Given the description of an element on the screen output the (x, y) to click on. 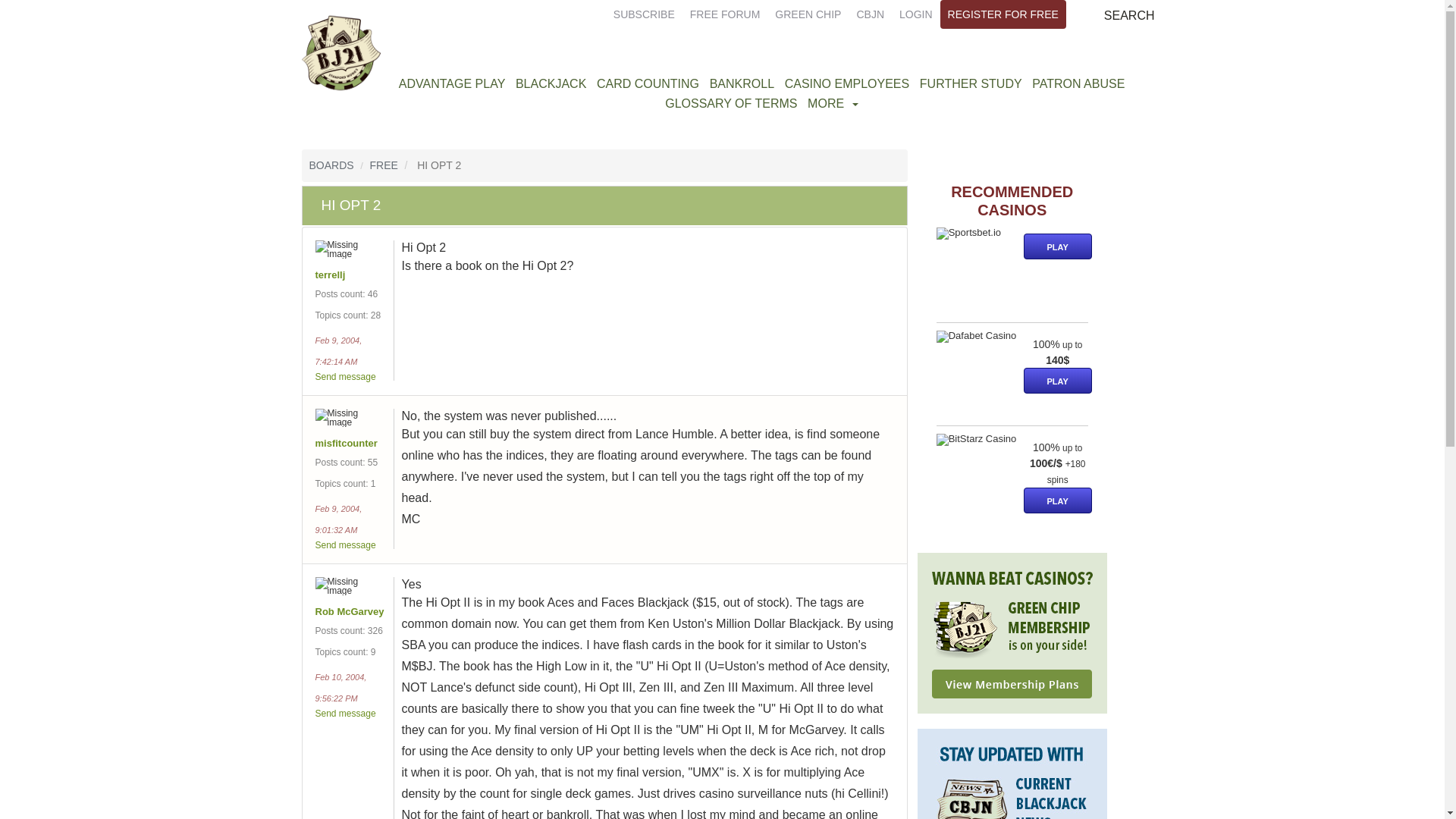
CASINO EMPLOYEES (847, 83)
CBJN (869, 14)
REGISTER FOR FREE (1002, 14)
LOGIN (915, 14)
SUBSCRIBE (643, 14)
BLACKJACK (550, 83)
GREEN CHIP (807, 14)
ADVANTAGE PLAY (451, 83)
FREE FORUM (725, 14)
BANKROLL (741, 83)
